Given the description of an element on the screen output the (x, y) to click on. 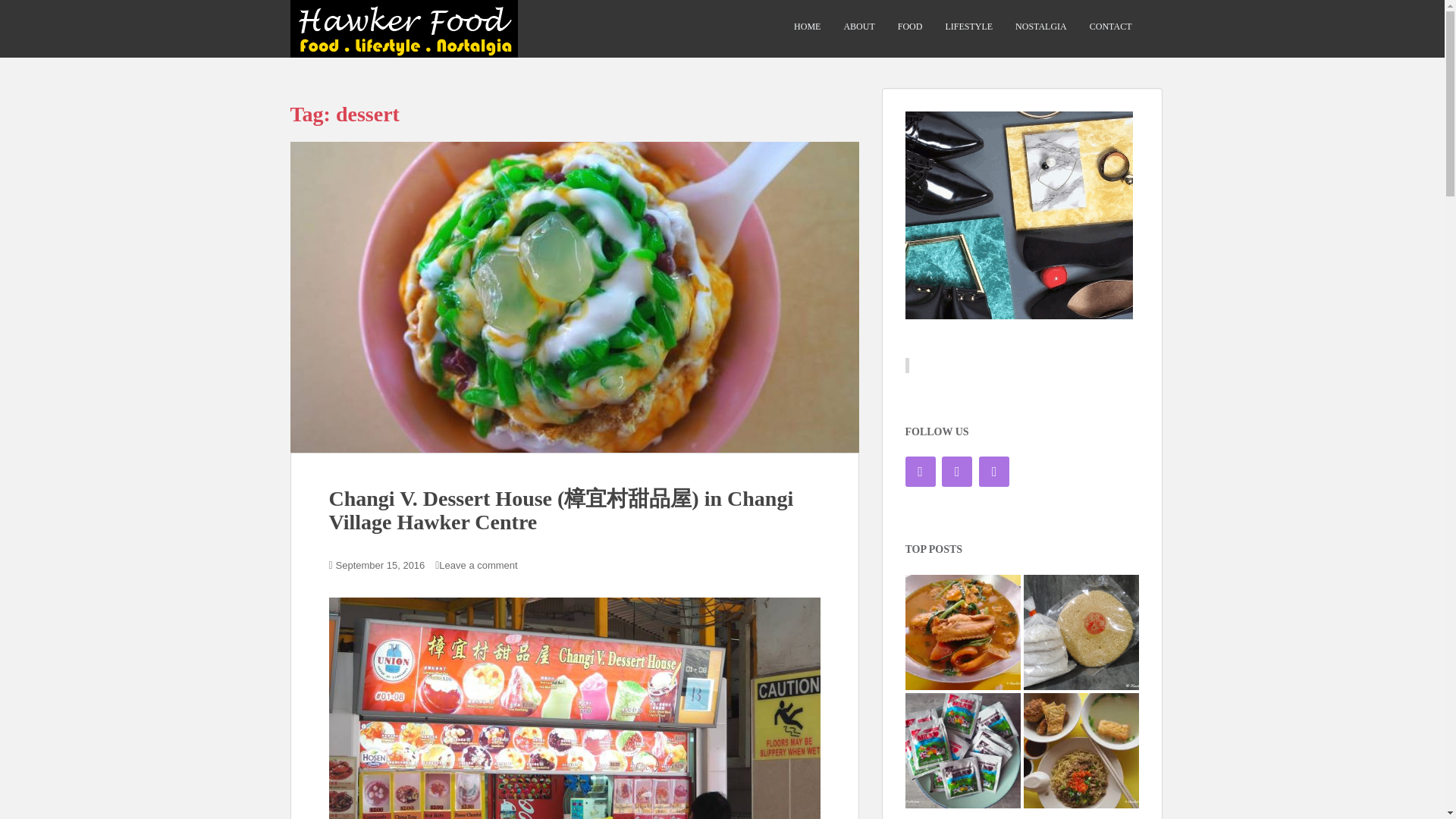
NOSTALGIA (1040, 26)
LIFESTYLE (968, 26)
CONTACT (1110, 26)
ABOUT (859, 26)
September 15, 2016 (380, 564)
Leave a comment (481, 564)
